Given the description of an element on the screen output the (x, y) to click on. 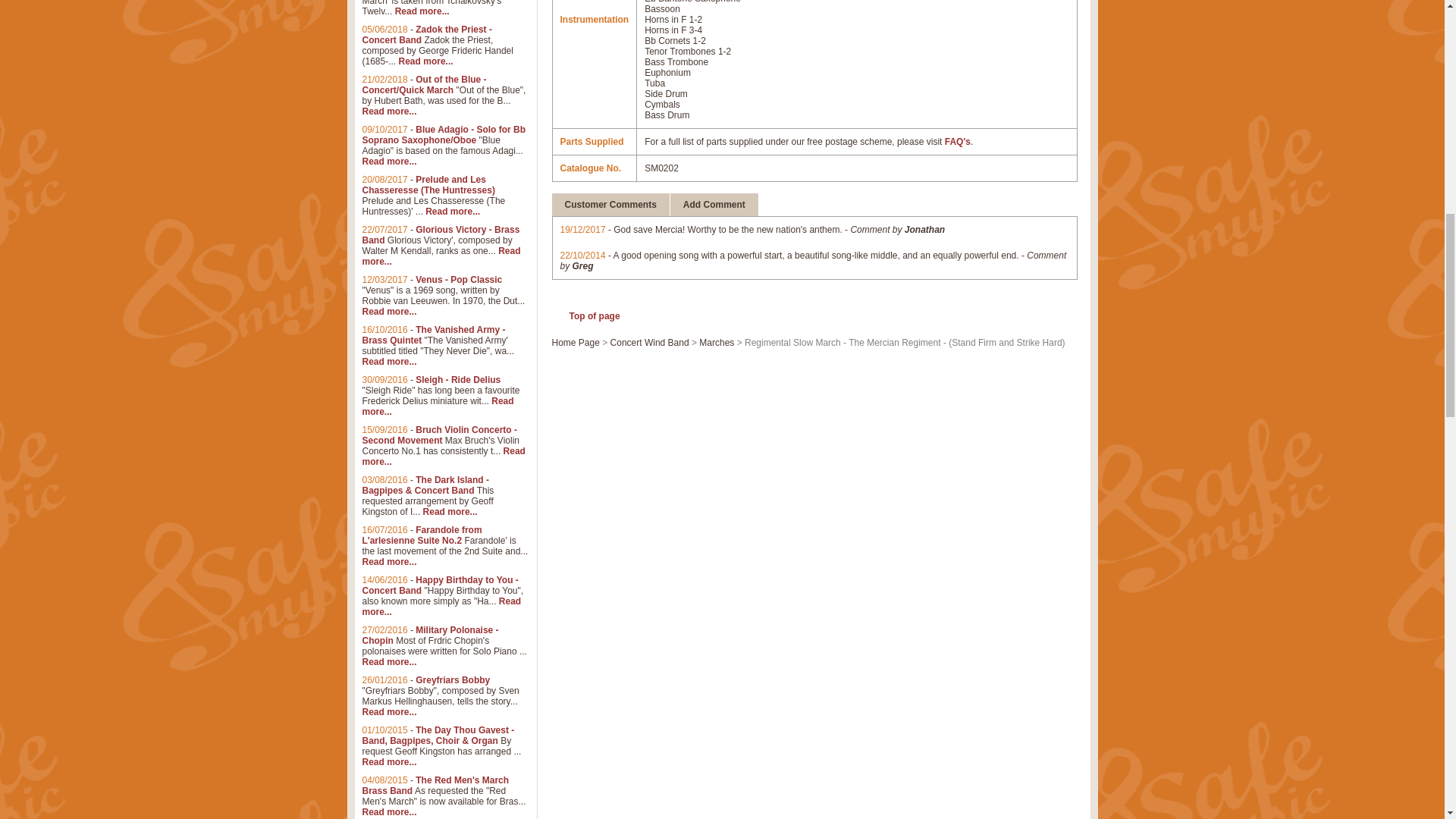
Customer Comments (610, 205)
FAQ's (957, 141)
